Given the description of an element on the screen output the (x, y) to click on. 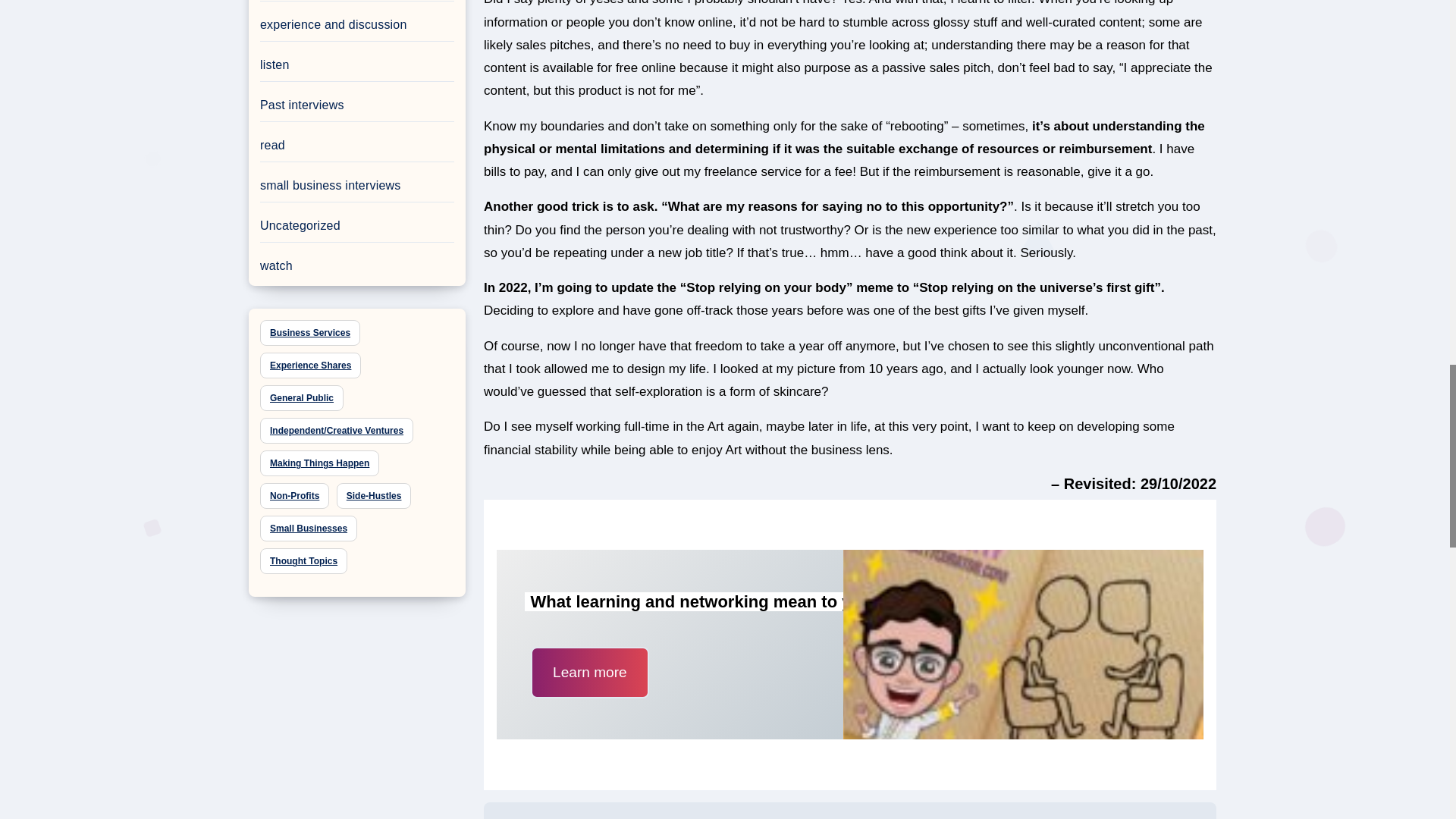
watch (276, 265)
Past interviews (301, 104)
listen (274, 64)
experience and discussion (333, 24)
Experience Shares (310, 365)
Uncategorized (300, 225)
General Public (301, 397)
Business Services (309, 332)
read (272, 144)
small business interviews (330, 185)
